Given the description of an element on the screen output the (x, y) to click on. 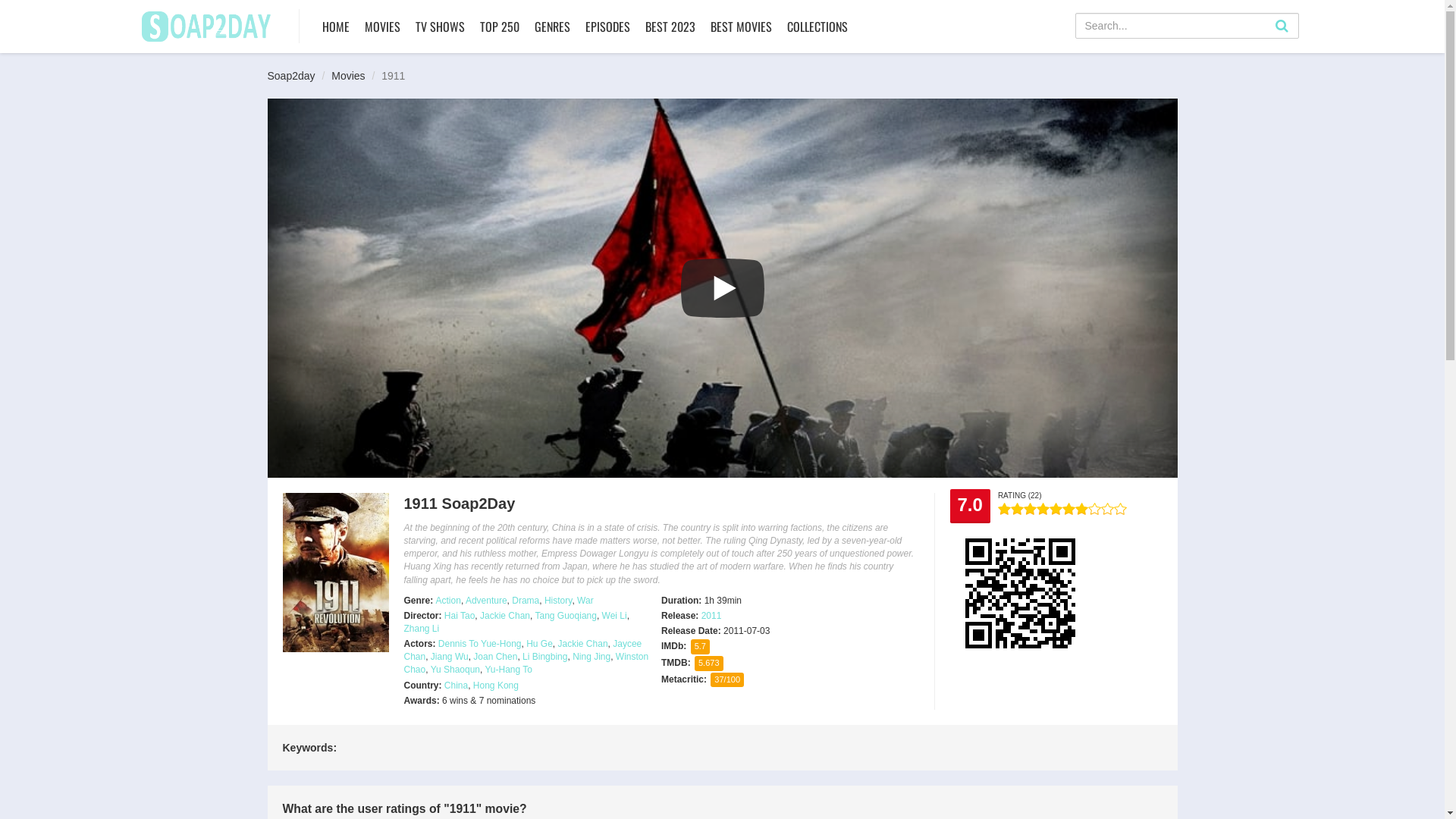
COLLECTIONS Element type: text (816, 26)
War Element type: text (585, 600)
TV SHOWS Element type: text (439, 26)
Ning Jing Element type: text (591, 656)
GENRES Element type: text (552, 26)
Soap2day Element type: text (290, 75)
Hu Ge Element type: text (539, 643)
Yu-Hang To Element type: text (509, 669)
BEST 2023 Element type: text (670, 26)
MOVIES Element type: text (382, 26)
Action Element type: text (448, 600)
Zhang Li Element type: text (421, 628)
8 Stars Element type: hover (1094, 508)
Jiang Wu Element type: text (449, 656)
Tang Guoqiang Element type: text (565, 615)
soap2day Element type: hover (205, 23)
Jackie Chan Element type: text (505, 615)
2011 Element type: text (711, 615)
9 Stars Element type: hover (1107, 508)
Yu Shaoqun Element type: text (455, 669)
Movies Element type: text (347, 75)
Winston Chao Element type: text (525, 662)
HOME Element type: text (335, 26)
10 Stars Element type: hover (1119, 508)
China Element type: text (455, 685)
1 Star Element type: hover (1003, 508)
Hong Kong Element type: text (495, 685)
Hai Tao Element type: text (459, 615)
History Element type: text (557, 600)
Jackie Chan Element type: text (583, 643)
Dennis To Yue-Hong Element type: text (479, 643)
1911 Element type: hover (721, 287)
1911 Element type: hover (335, 572)
EPISODES Element type: text (606, 26)
7 Stars Element type: hover (1081, 508)
4 Stars Element type: hover (1042, 508)
6 Stars Element type: hover (1068, 508)
TOP 250 Element type: text (499, 26)
2 Stars Element type: hover (1016, 508)
Joan Chen Element type: text (495, 656)
Jaycee Chan Element type: text (522, 650)
3 Stars Element type: hover (1029, 508)
5 Stars Element type: hover (1055, 508)
Li Bingbing Element type: text (544, 656)
BEST MOVIES Element type: text (740, 26)
Adventure Element type: text (486, 600)
Drama Element type: text (525, 600)
Wei Li Element type: text (614, 615)
